Given the description of an element on the screen output the (x, y) to click on. 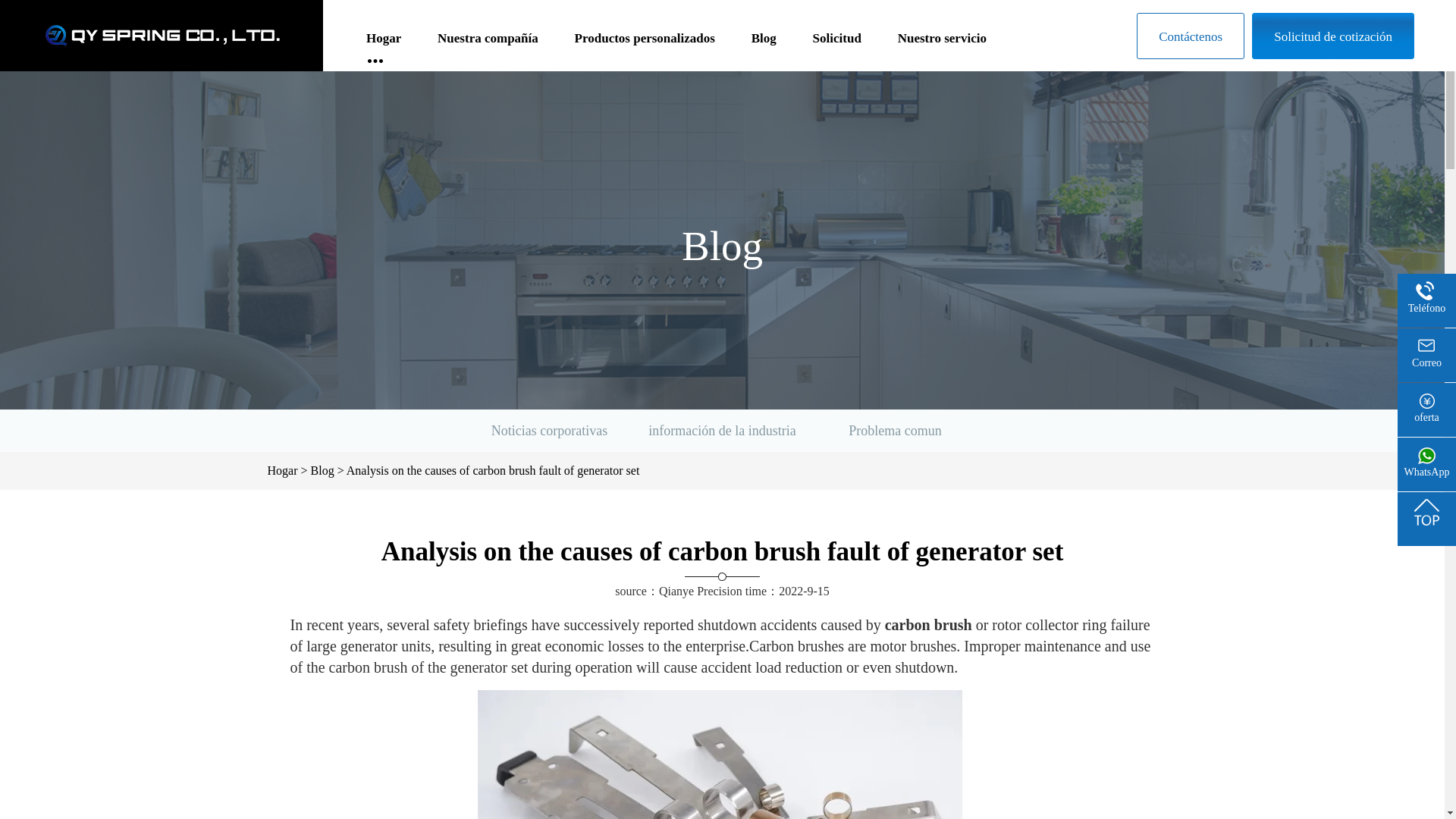
Productos personalizados (644, 45)
Nuestro servicio (942, 45)
Solicitud (836, 45)
